Given the description of an element on the screen output the (x, y) to click on. 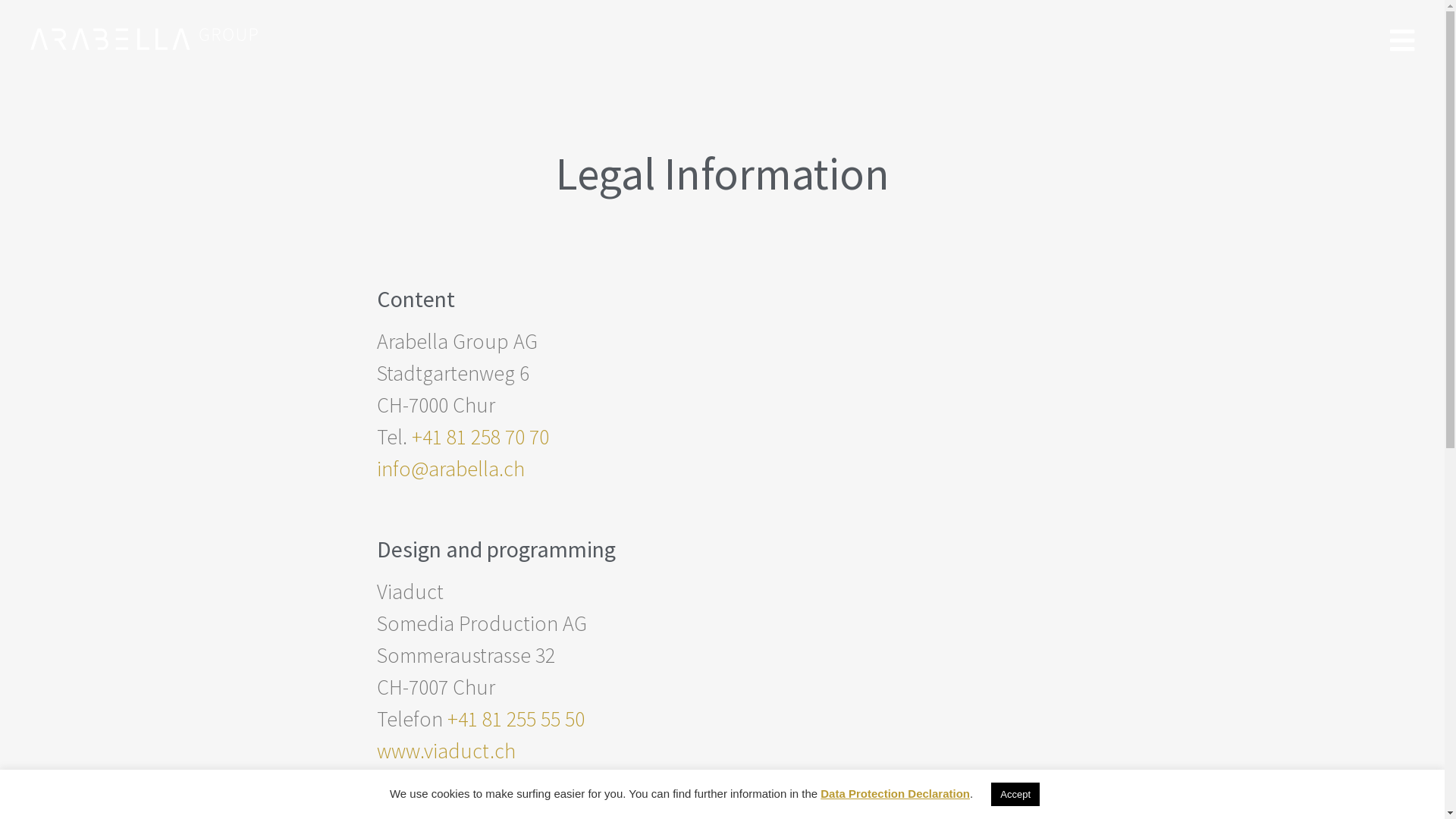
+41 81 255 55 50 Element type: text (515, 718)
Accept Element type: text (1015, 794)
Data Protection Declaration Element type: text (894, 793)
www.viaduct.ch Element type: text (445, 750)
+41 81 258 70 70 Element type: text (479, 436)
info@arabella.ch Element type: text (450, 468)
